Given the description of an element on the screen output the (x, y) to click on. 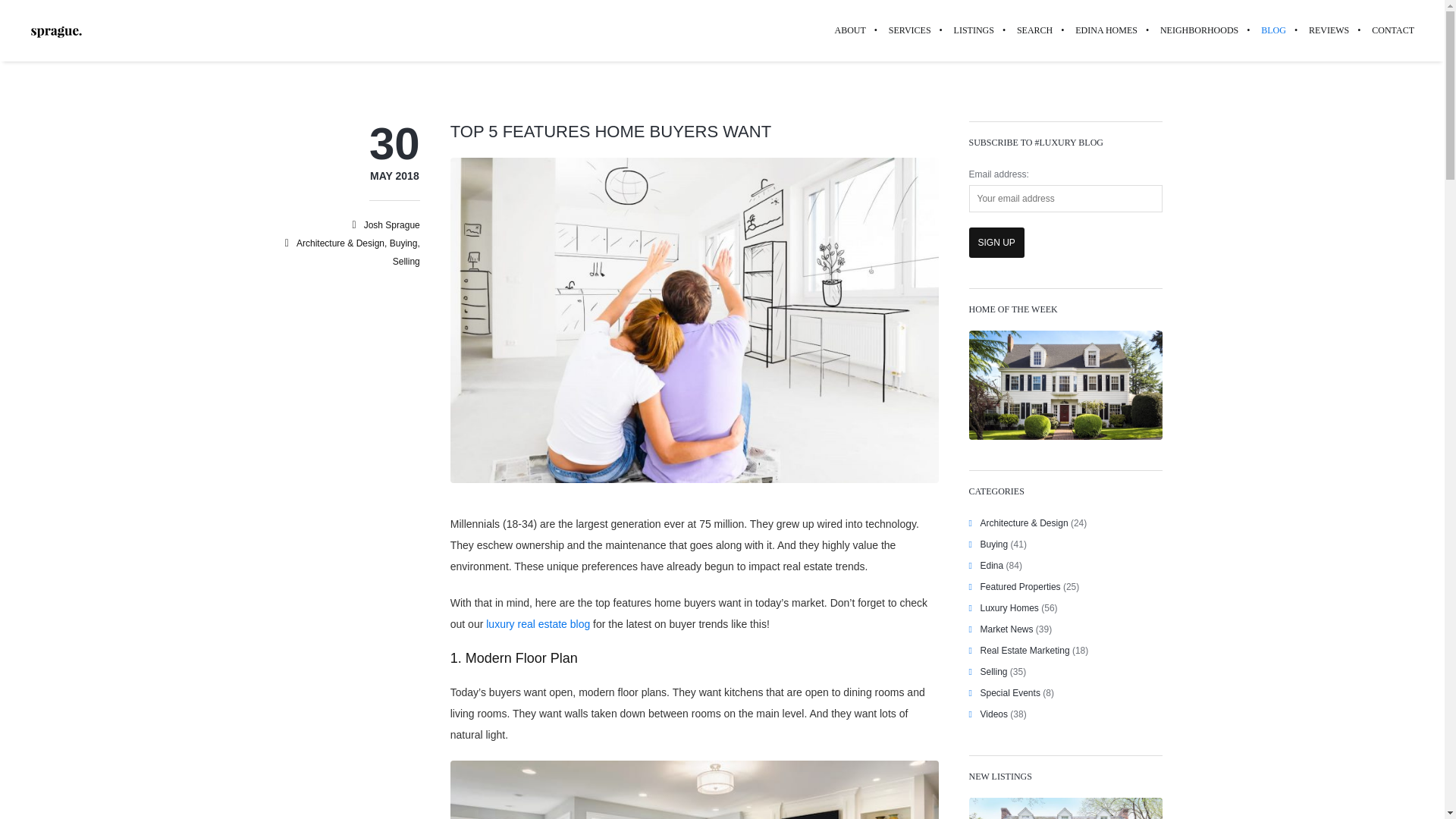
SERVICES (909, 30)
LISTINGS (974, 30)
Posts by Josh Sprague (392, 225)
Sign up (997, 242)
SEARCH (1035, 30)
NEIGHBORHOODS (1198, 30)
EDINA HOMES (1106, 30)
